Given the description of an element on the screen output the (x, y) to click on. 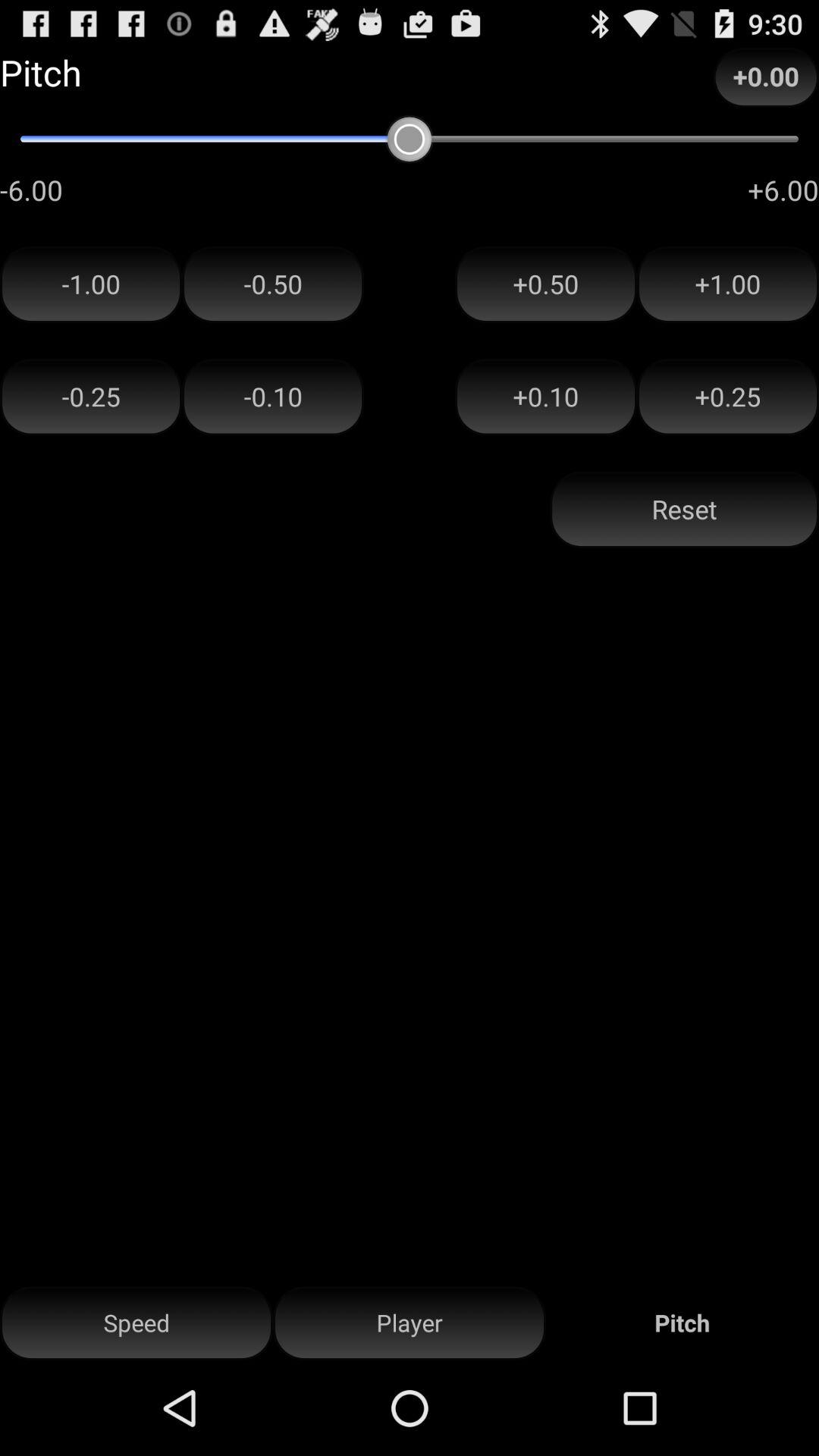
open button below the +0.10 icon (684, 509)
